Given the description of an element on the screen output the (x, y) to click on. 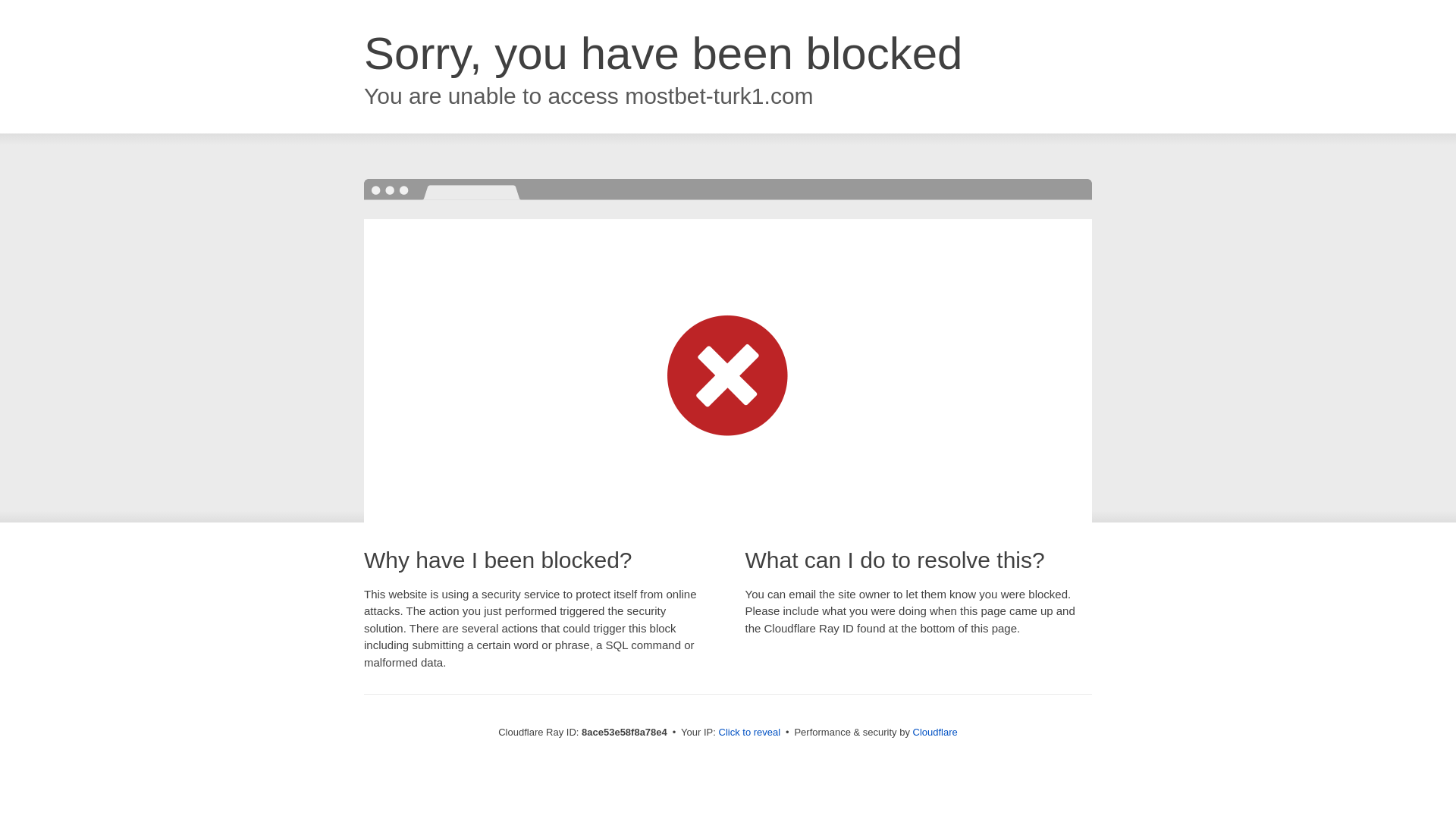
Click to reveal (749, 732)
Cloudflare (935, 731)
